Given the description of an element on the screen output the (x, y) to click on. 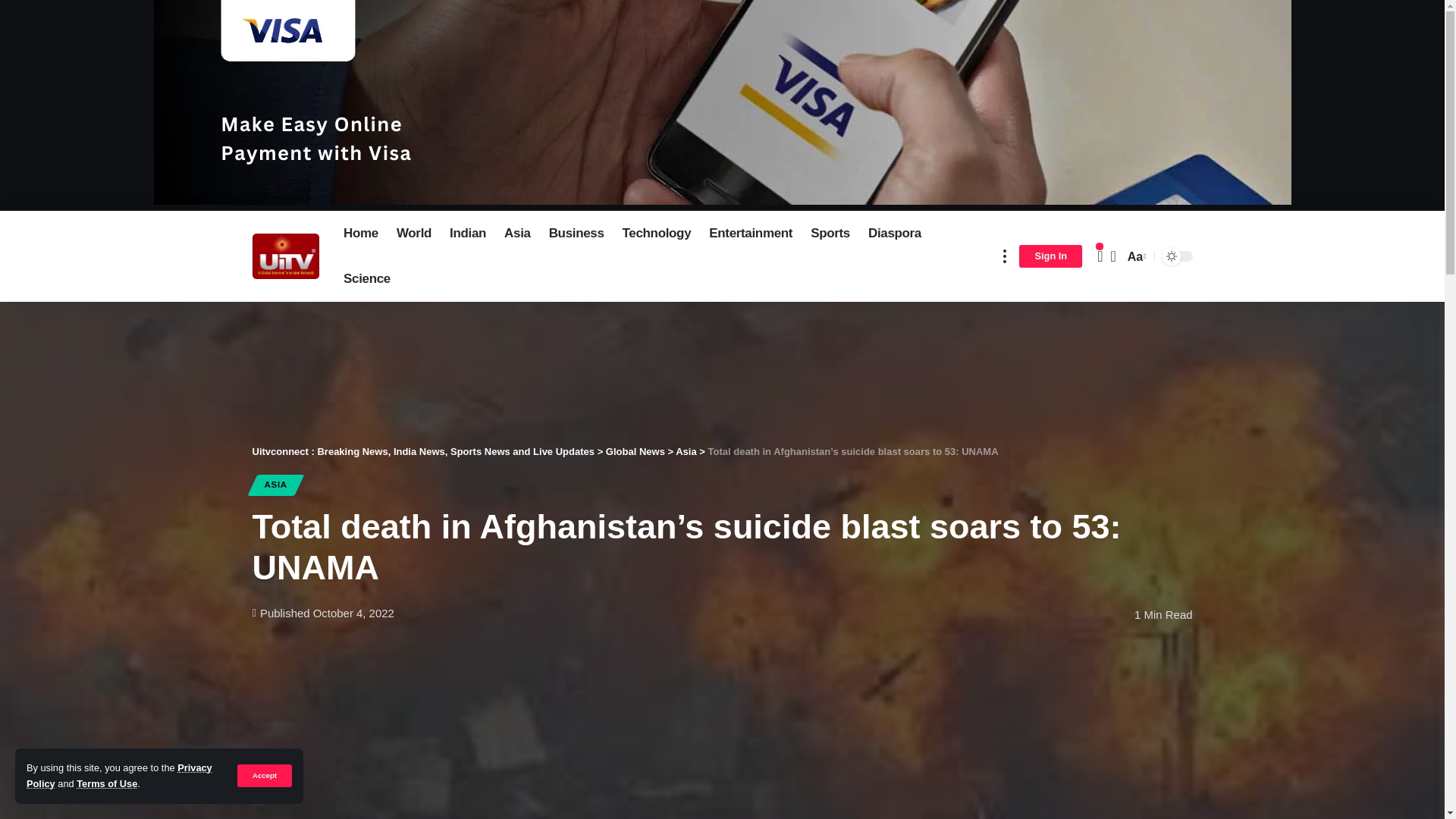
Indian (468, 233)
Terms of Use (106, 783)
Asia (517, 233)
Accept (264, 775)
Business (576, 233)
Go to the Asia Category archives. (685, 451)
Science (366, 279)
Technology (656, 233)
Home (360, 233)
